Given the description of an element on the screen output the (x, y) to click on. 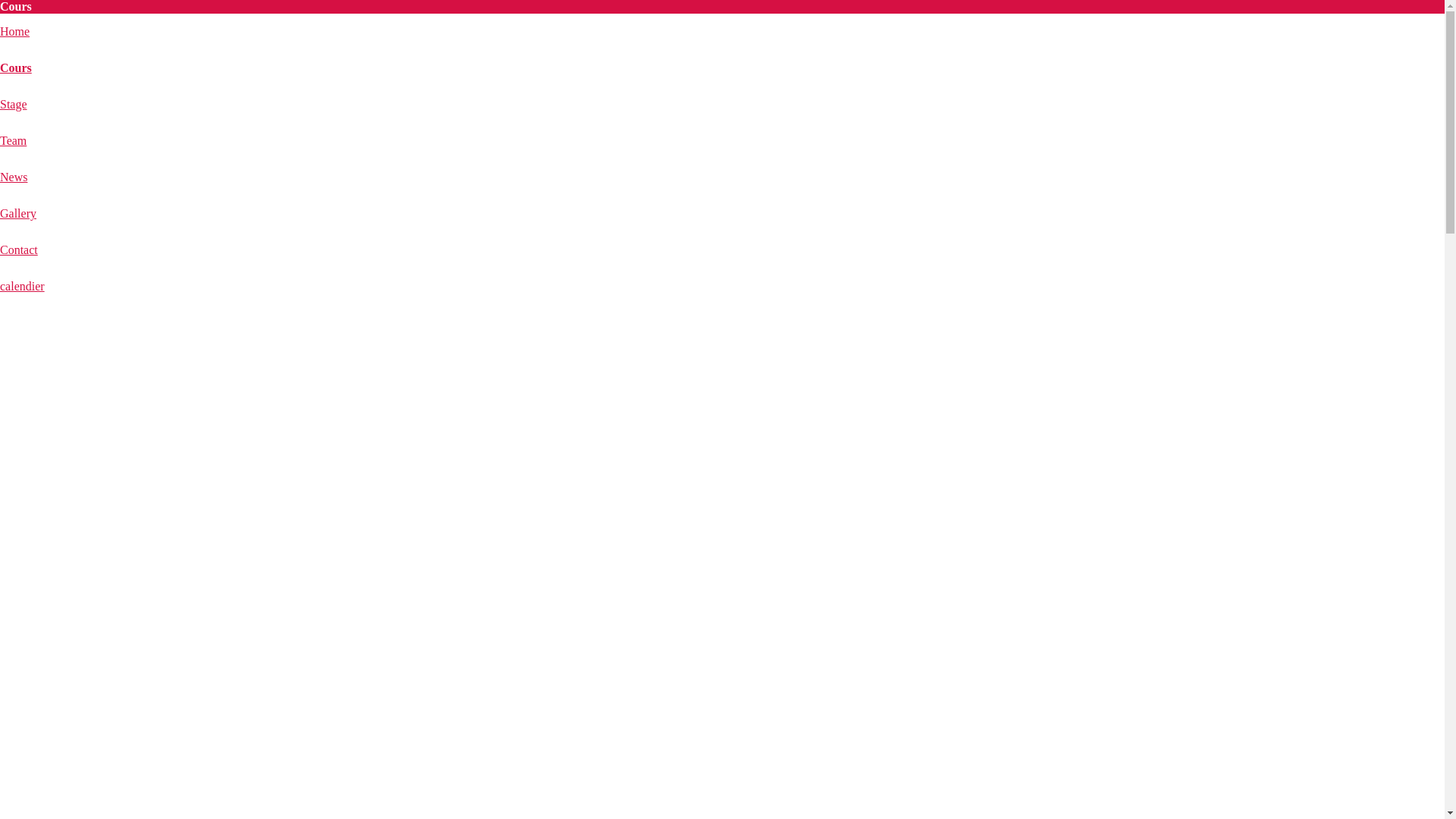
Home Element type: text (14, 31)
Gallery Element type: text (18, 213)
calendier Element type: text (22, 285)
Team Element type: text (13, 140)
Cours Element type: text (15, 67)
News Element type: text (13, 176)
Stage Element type: text (13, 103)
Contact Element type: text (18, 249)
